Given the description of an element on the screen output the (x, y) to click on. 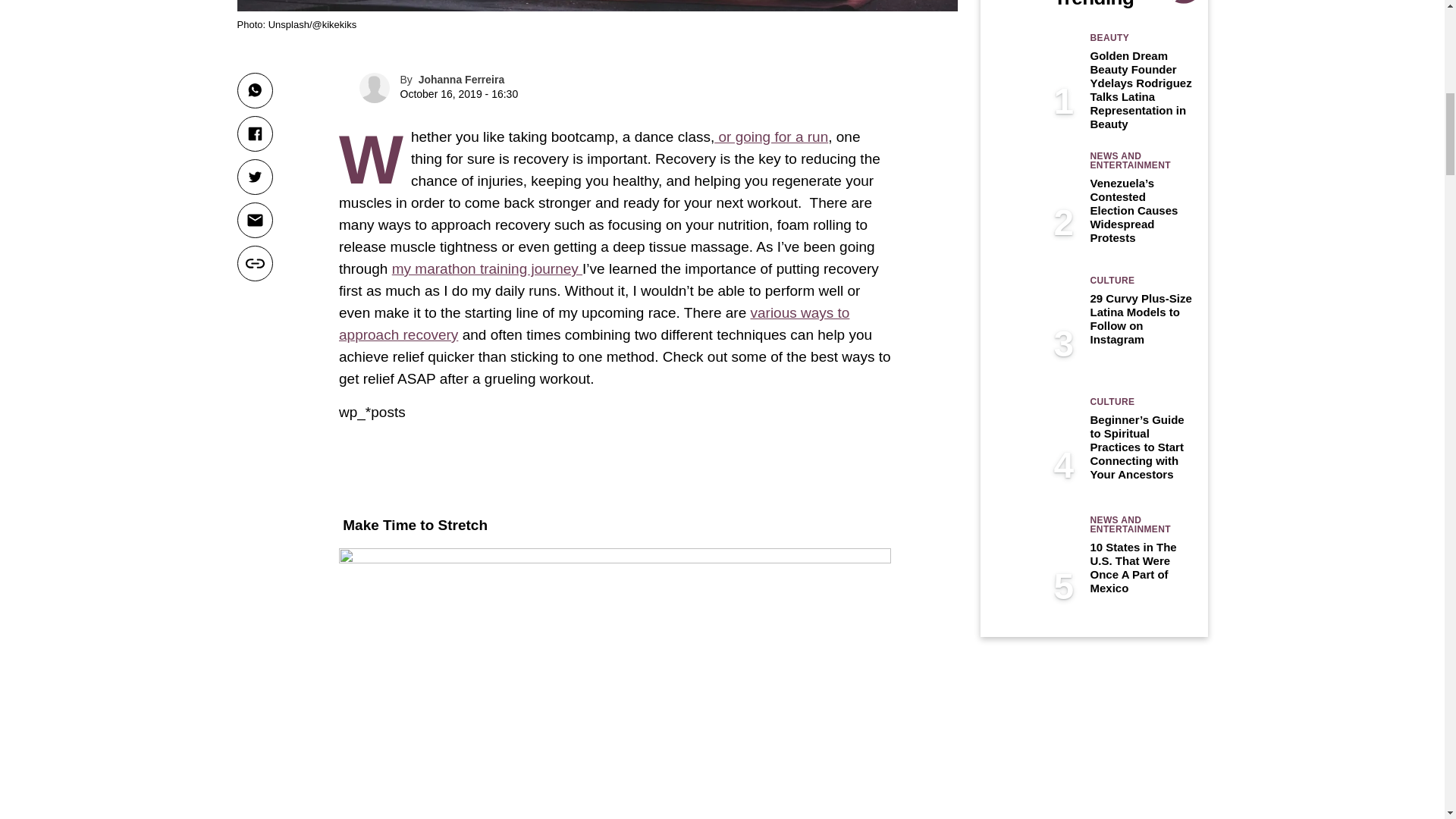
Johanna Ferreira (462, 79)
or going for a run (771, 136)
Share this article on WhatsApp (253, 90)
Share this article on Facebook (253, 133)
my marathon training journey (486, 268)
Share this article on Twitter (253, 176)
various ways to approach recovery (593, 323)
